Given the description of an element on the screen output the (x, y) to click on. 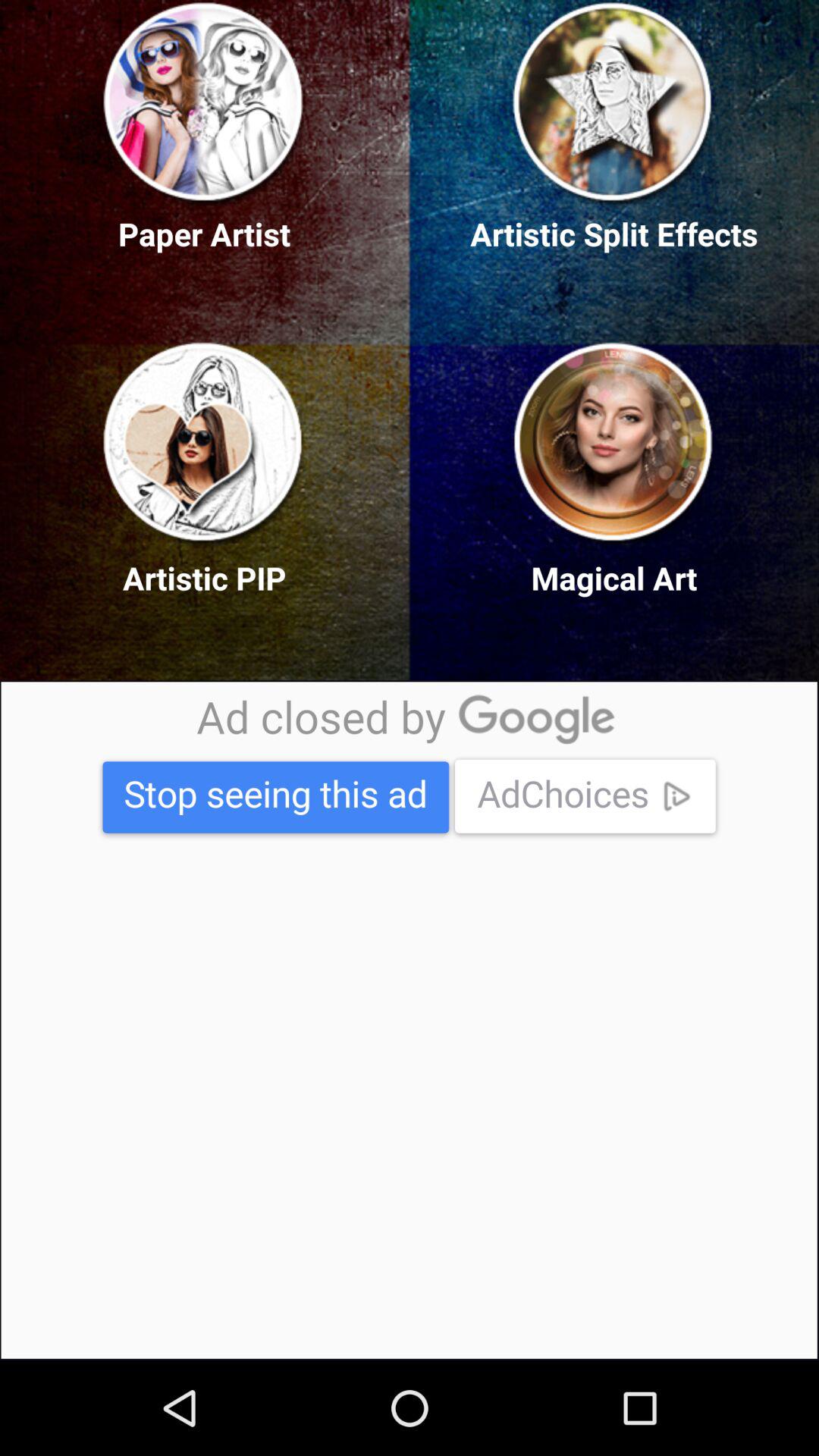
advertisements (409, 1019)
